Given the description of an element on the screen output the (x, y) to click on. 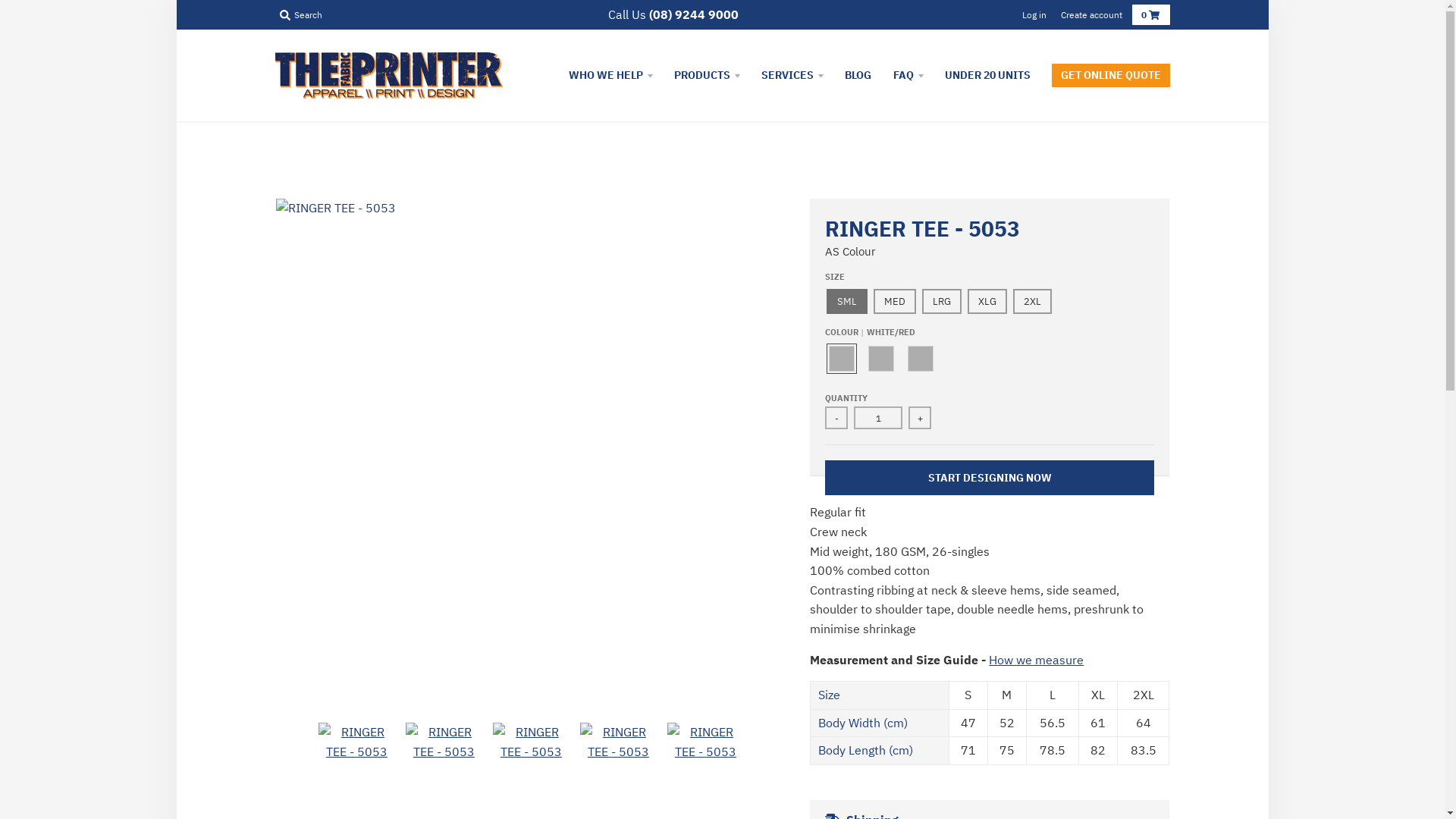
PRODUCTS Element type: text (706, 74)
Search Element type: text (300, 14)
Log in Element type: text (1034, 14)
WHO WE HELP Element type: text (609, 74)
SERVICES Element type: text (790, 74)
UNDER 20 UNITS Element type: text (986, 74)
How we measure Element type: text (1035, 659)
FAQ Element type: text (906, 74)
START DESIGNING NOW Element type: text (989, 477)
- Element type: text (836, 417)
0
Cart Element type: text (1150, 14)
Call Us (08) 9244 9000 Element type: text (673, 15)
AS Colour Element type: text (850, 251)
GET ONLINE QUOTE Element type: text (1110, 74)
BLOG Element type: text (857, 74)
+ Element type: text (919, 417)
Create account Element type: text (1090, 14)
